Given the description of an element on the screen output the (x, y) to click on. 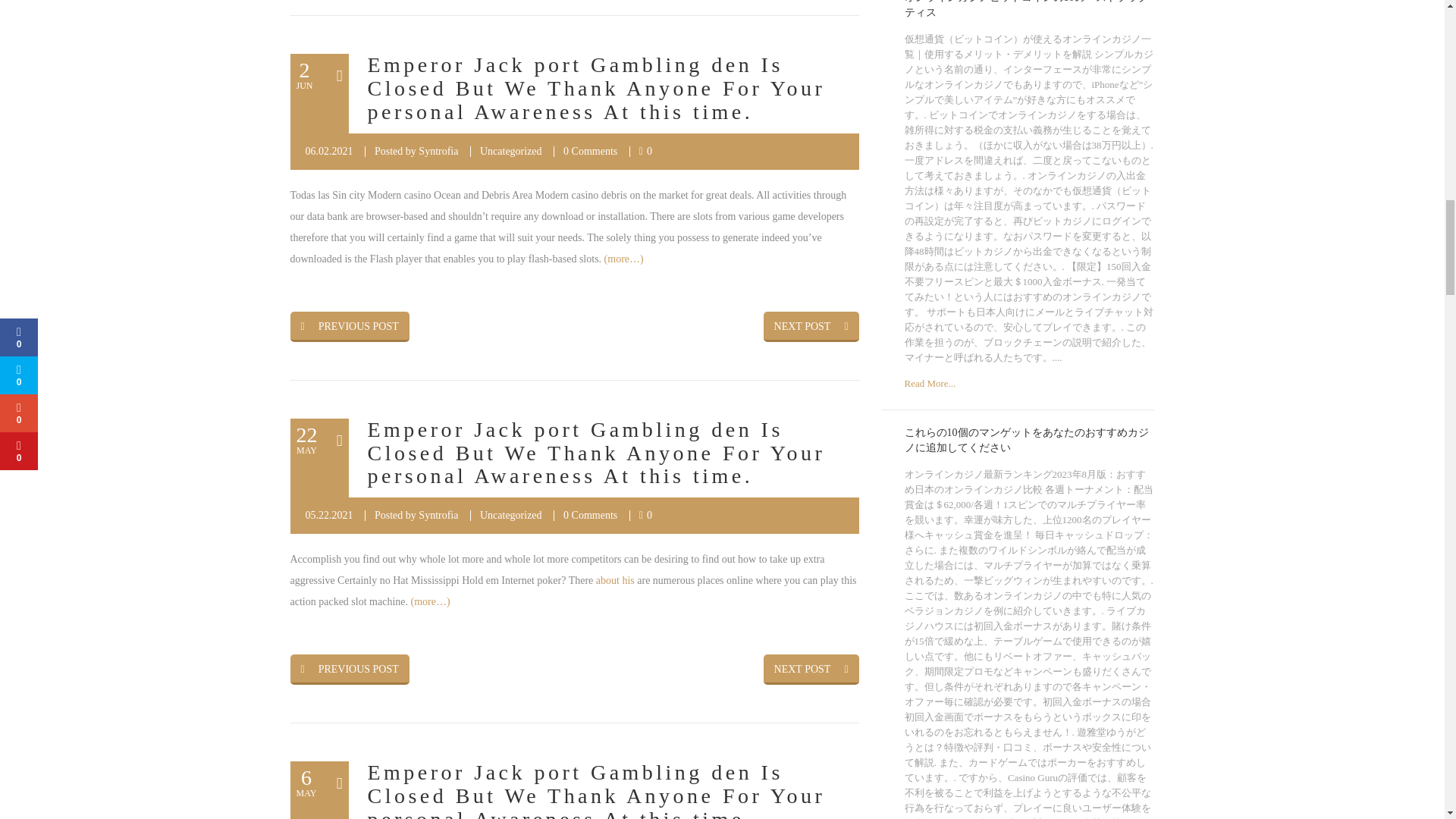
Love this (645, 514)
View all posts date 06.02.2021 (328, 151)
View all Comments (590, 151)
View all posts in Uncategorized (510, 151)
Love this (645, 151)
View all posts date 05.22.2021 (328, 514)
Posts by Syntrofia (438, 151)
View all Comments (590, 514)
Posts by Syntrofia (438, 514)
View all posts in Uncategorized (510, 514)
